Given the description of an element on the screen output the (x, y) to click on. 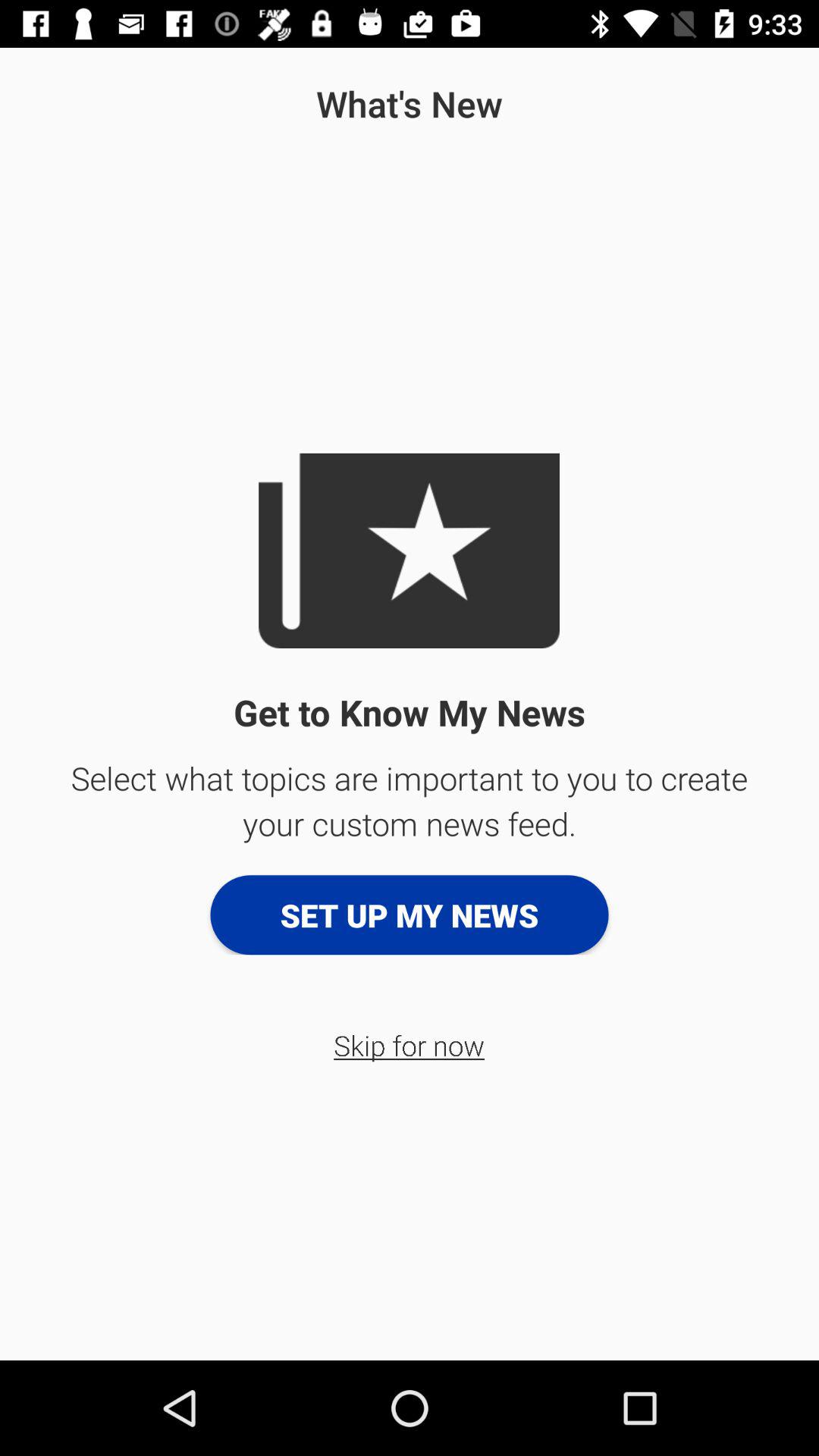
open the skip for now app (409, 1044)
